Given the description of an element on the screen output the (x, y) to click on. 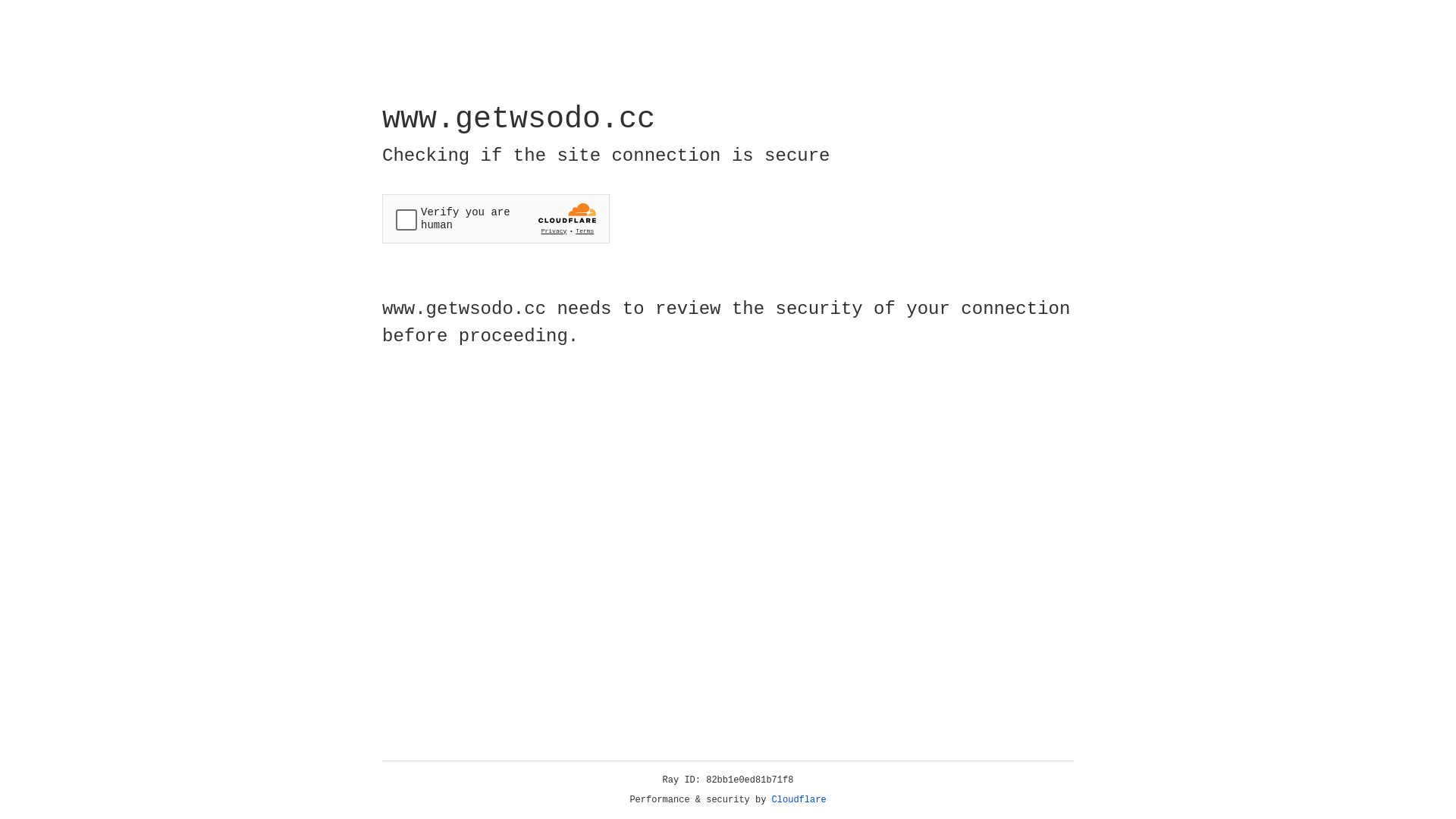
Widget containing a Cloudflare security challenge Element type: hover (495, 218)
Cloudflare Element type: text (798, 799)
